Given the description of an element on the screen output the (x, y) to click on. 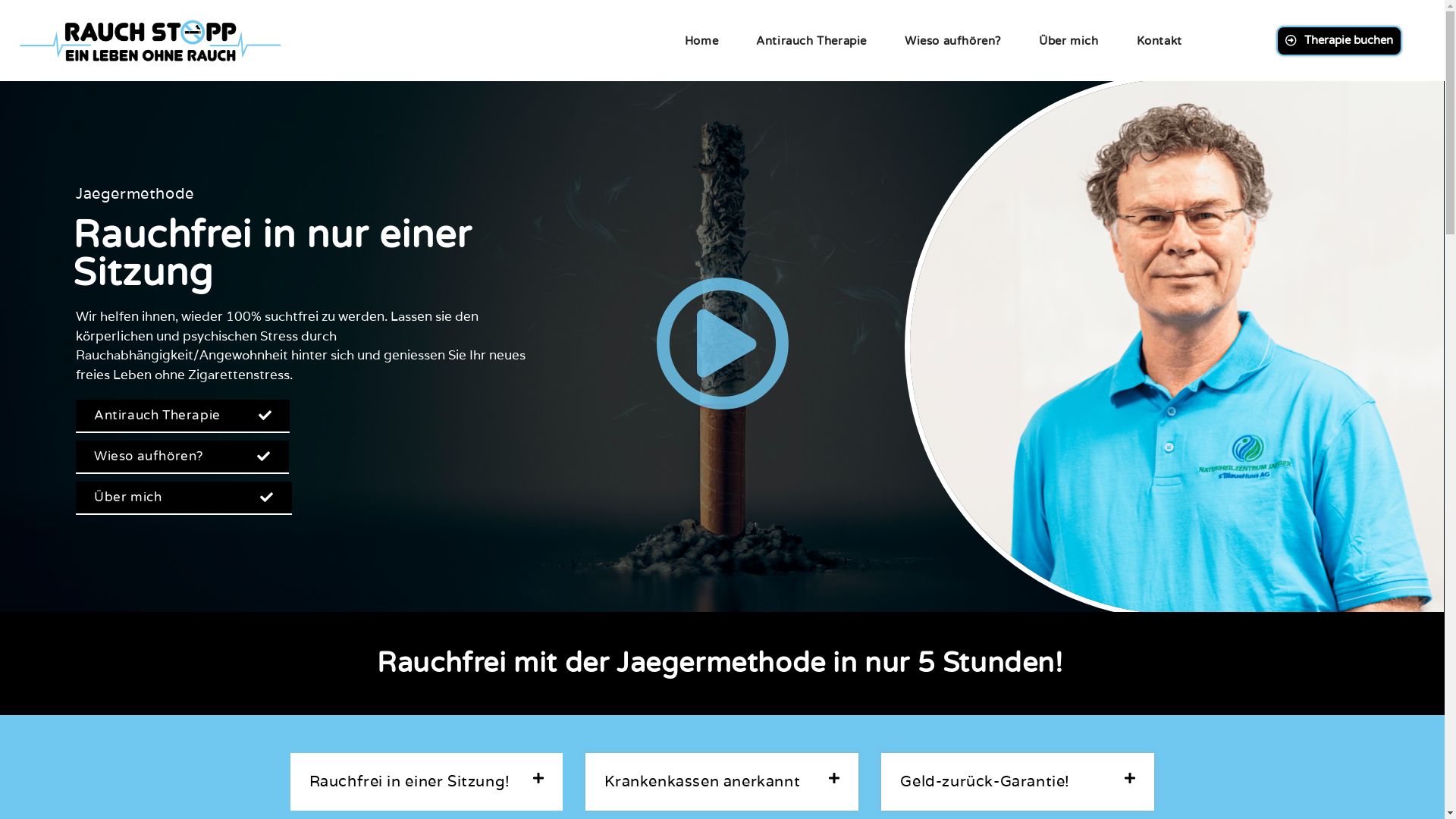
Antirauch Therapie Element type: text (182, 416)
Antirauch Therapie Element type: text (811, 40)
Rauchfrei in einer Sitzung! Element type: text (409, 780)
Home Element type: text (701, 40)
Therapie buchen Element type: text (1339, 40)
Kontakt Element type: text (1158, 40)
Krankenkassen anerkannt Element type: text (702, 780)
